Given the description of an element on the screen output the (x, y) to click on. 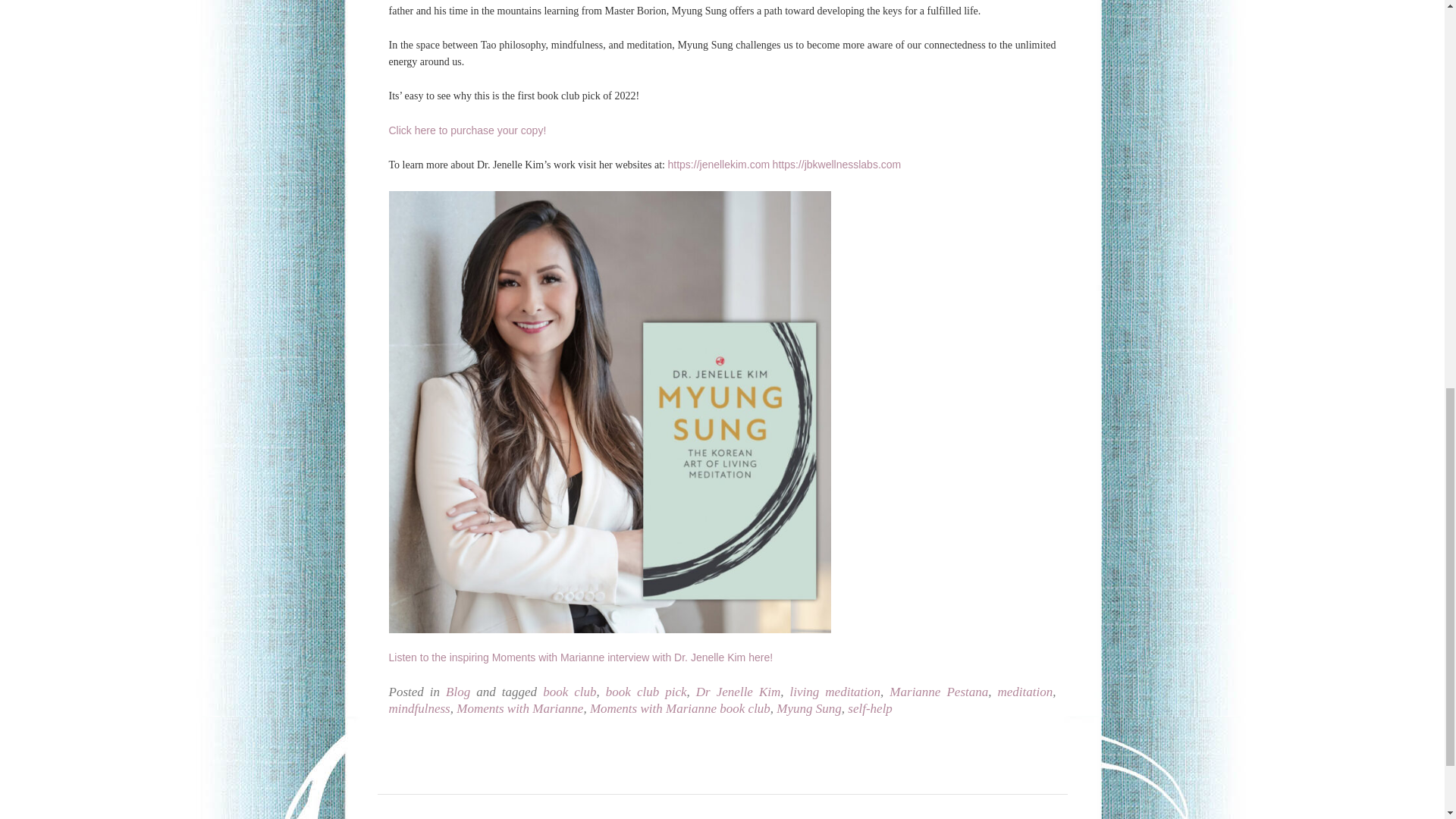
Myung Sung (808, 708)
Marianne Pestana (938, 691)
Blog (457, 691)
mindfulness (418, 708)
meditation (1024, 691)
self-help (869, 708)
Moments with Marianne book club (679, 708)
Click here to purchase your copy! (467, 130)
living meditation (835, 691)
